Given the description of an element on the screen output the (x, y) to click on. 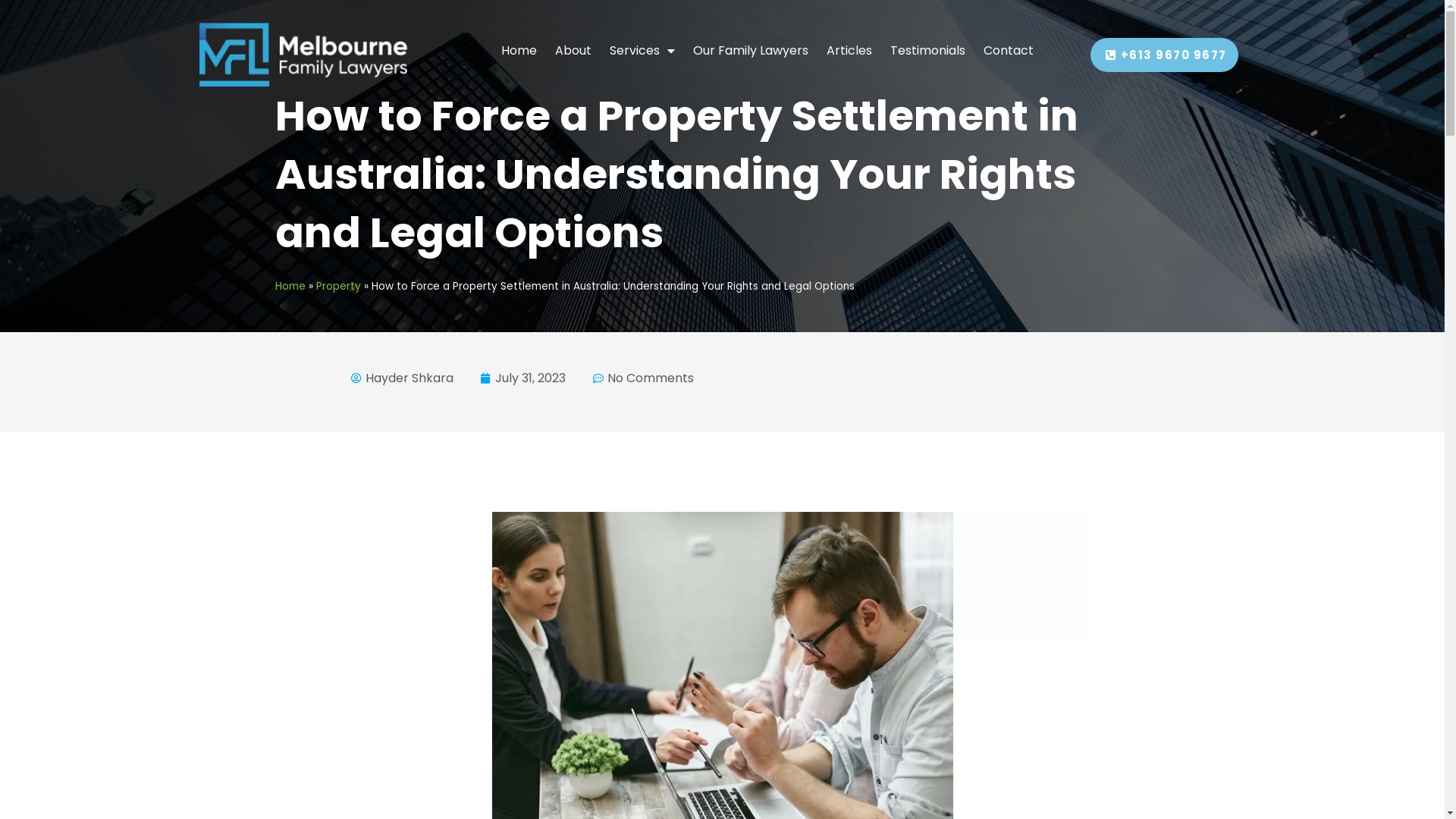
July 31, 2023 Element type: text (522, 377)
Hayder Shkara Element type: text (401, 377)
No Comments Element type: text (643, 377)
Home Element type: text (289, 286)
Testimonials Element type: text (927, 50)
Our Family Lawyers Element type: text (750, 50)
+613 9670 9677 Element type: text (1164, 54)
About Element type: text (573, 50)
Articles Element type: text (849, 50)
Property Element type: text (337, 286)
Contact Element type: text (1008, 50)
Services Element type: text (642, 50)
Home Element type: text (519, 50)
